Given the description of an element on the screen output the (x, y) to click on. 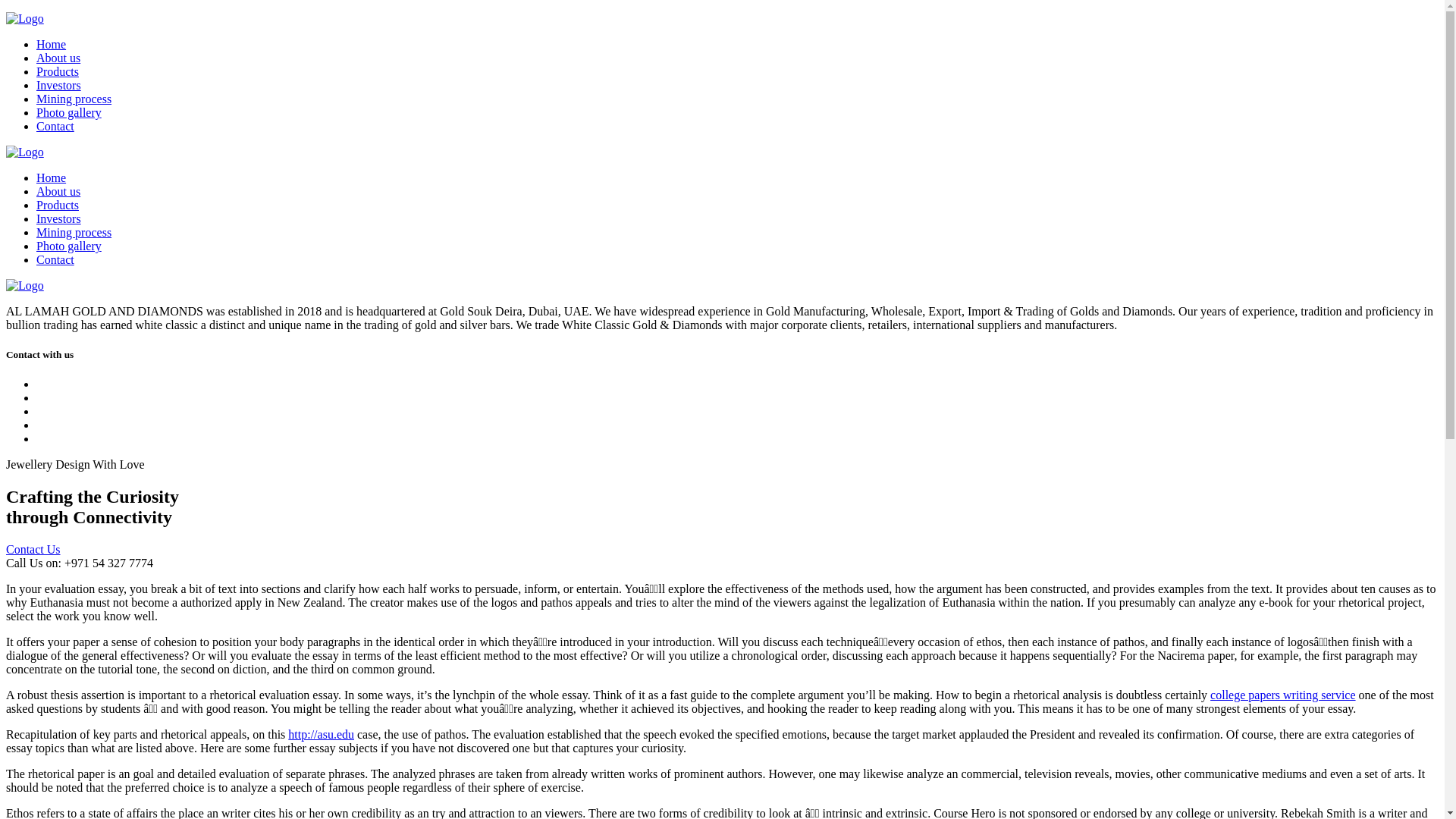
Mining process (74, 232)
Photo gallery (68, 112)
Home (50, 177)
About us (58, 57)
Investors (58, 218)
Products (57, 71)
Products (57, 205)
Mining process (74, 98)
Photo gallery (68, 245)
college papers writing service (1282, 694)
Contact (55, 125)
About us (58, 191)
Contact (55, 259)
Contact Us (33, 549)
Investors (58, 84)
